Given the description of an element on the screen output the (x, y) to click on. 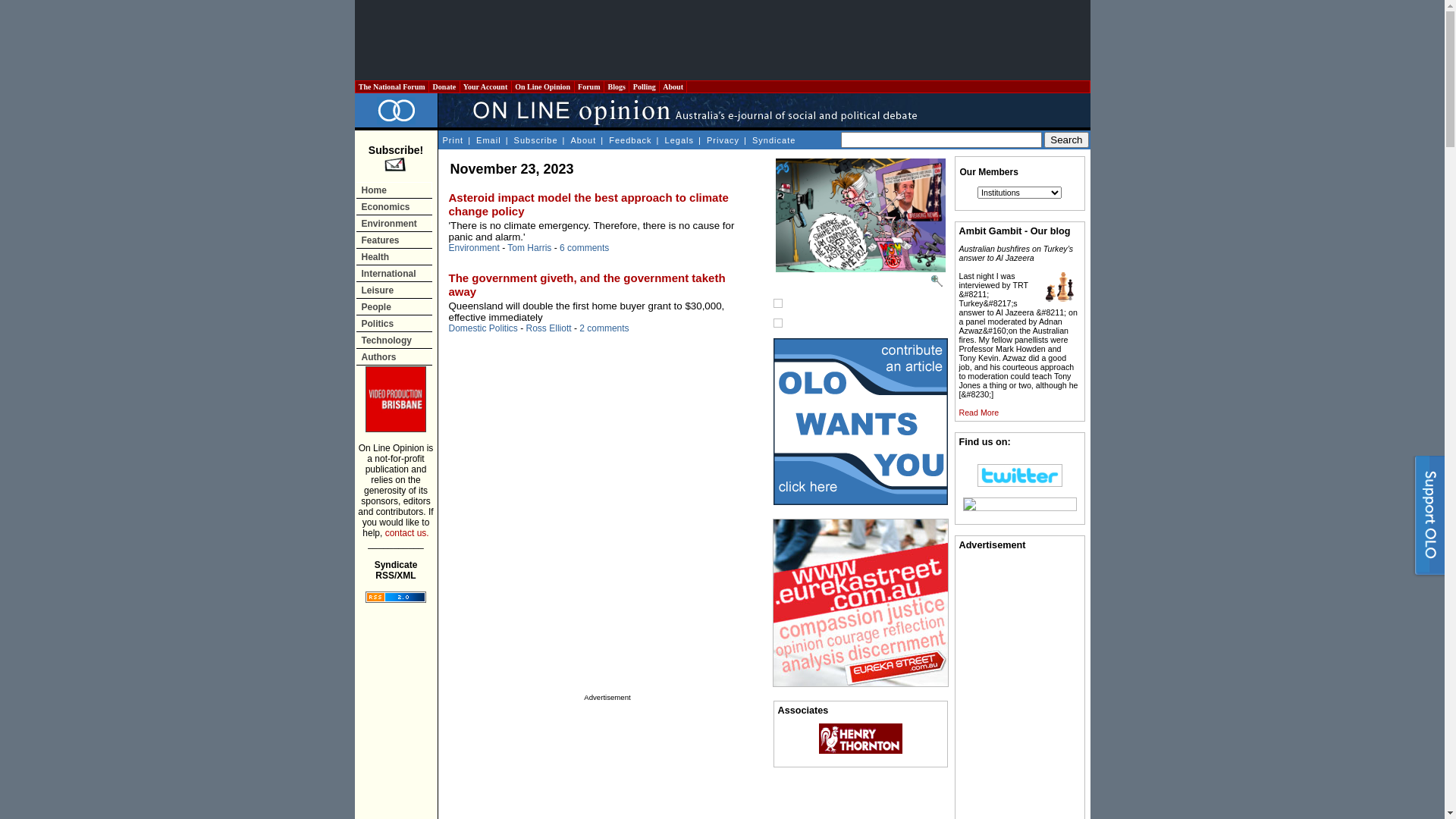
Health Element type: text (394, 256)
Read More Element type: text (978, 412)
Ross Elliott Element type: text (548, 328)
Politics Element type: text (394, 323)
Tom Harris Element type: text (529, 247)
Feedback Element type: text (629, 139)
contact us. Element type: text (407, 532)
Leisure Element type: text (394, 290)
Environment Element type: text (473, 247)
Home Element type: text (394, 189)
 Your Account  Element type: text (485, 86)
 About  Element type: text (672, 86)
Syndicate Element type: text (773, 139)
Subscribe Element type: text (535, 139)
 Donate  Element type: text (444, 86)
About Element type: text (583, 139)
Subscribe! Element type: text (395, 158)
Domestic Politics Element type: text (482, 328)
Technology Element type: text (394, 340)
Advertisement Element type: hover (721, 40)
Economics Element type: text (394, 206)
2 comments Element type: text (603, 328)
Legals Element type: text (678, 139)
Support Us! Element type: text (1427, 519)
Print Element type: text (451, 139)
Email Element type: text (487, 139)
Environment Element type: text (394, 223)
 The National Forum  Element type: text (391, 86)
6 comments Element type: text (583, 247)
Privacy Element type: text (722, 139)
 Blogs  Element type: text (616, 86)
Search Element type: text (1066, 139)
Authors Element type: text (394, 356)
The government giveth, and the government taketh away Element type: text (586, 284)
Features Element type: text (394, 239)
 Forum  Element type: text (589, 86)
 On Line Opinion  Element type: text (542, 86)
 Polling  Element type: text (643, 86)
People Element type: text (394, 306)
International Element type: text (394, 273)
